Given the description of an element on the screen output the (x, y) to click on. 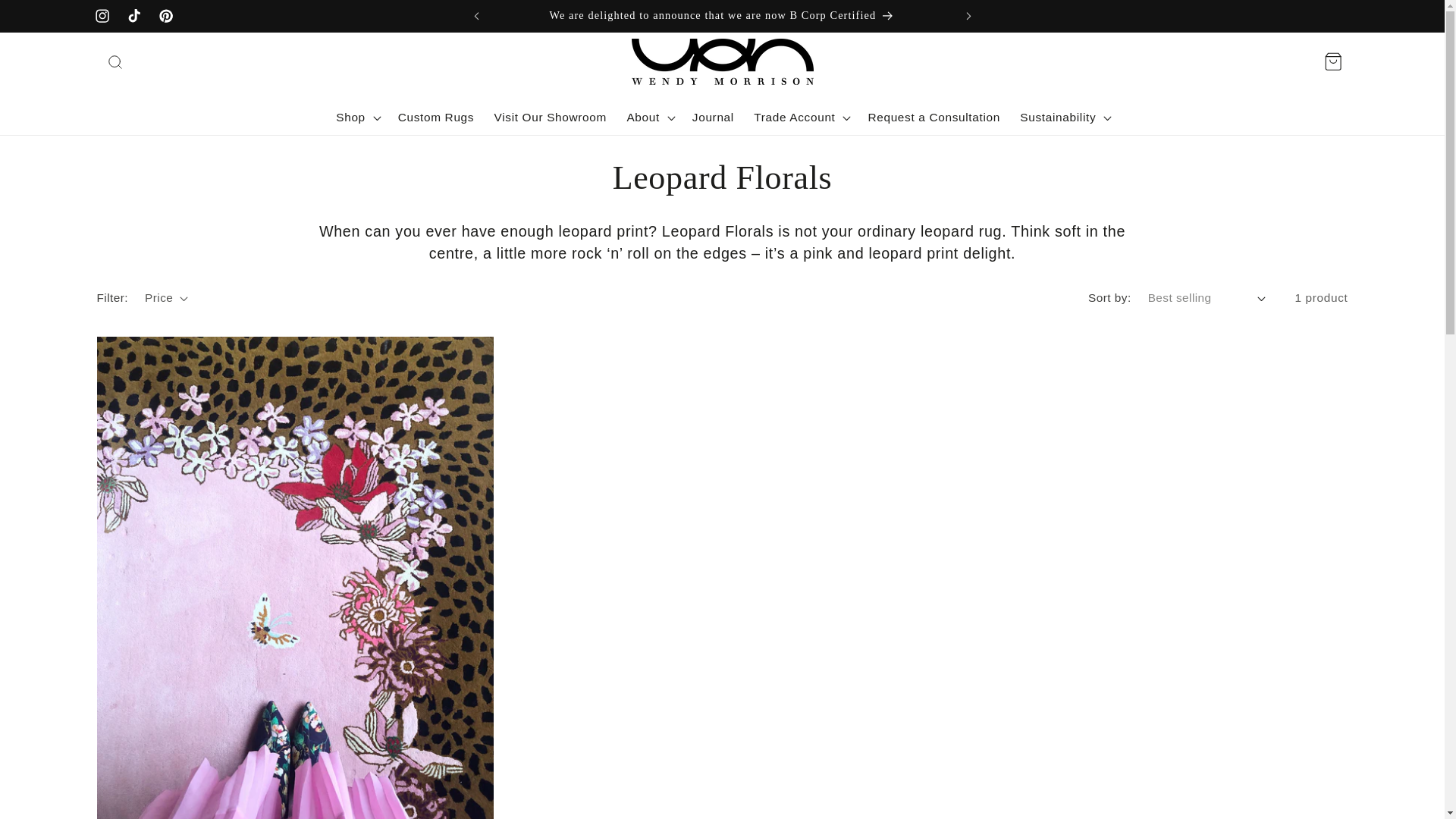
SKIP TO CONTENT (50, 19)
Instagram (101, 15)
TikTok (133, 15)
Pinterest (165, 15)
